Given the description of an element on the screen output the (x, y) to click on. 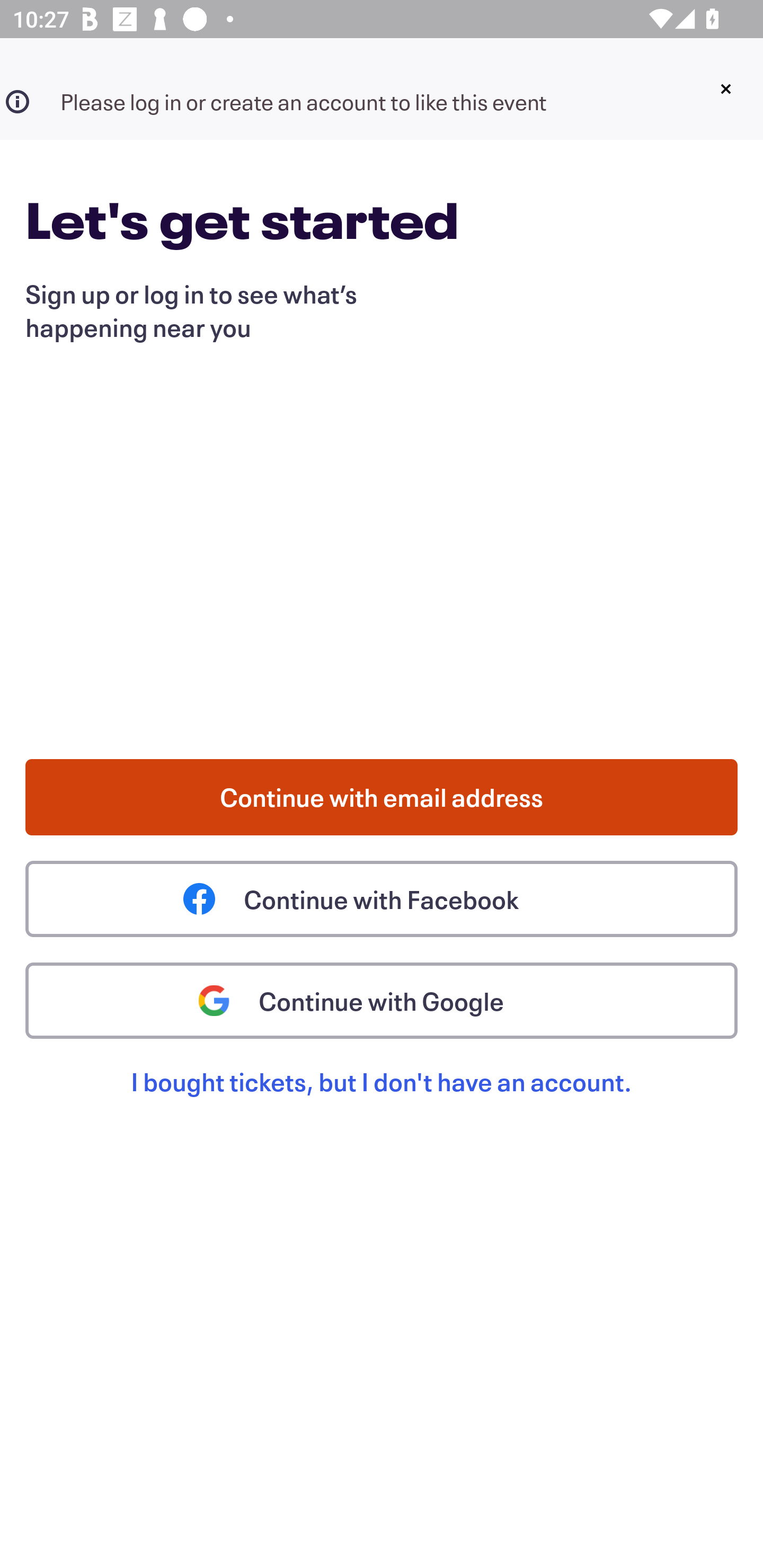
Dismiss notification (725, 89)
Continue with email address (381, 796)
I bought tickets, but I don't have an account. (381, 1101)
